Given the description of an element on the screen output the (x, y) to click on. 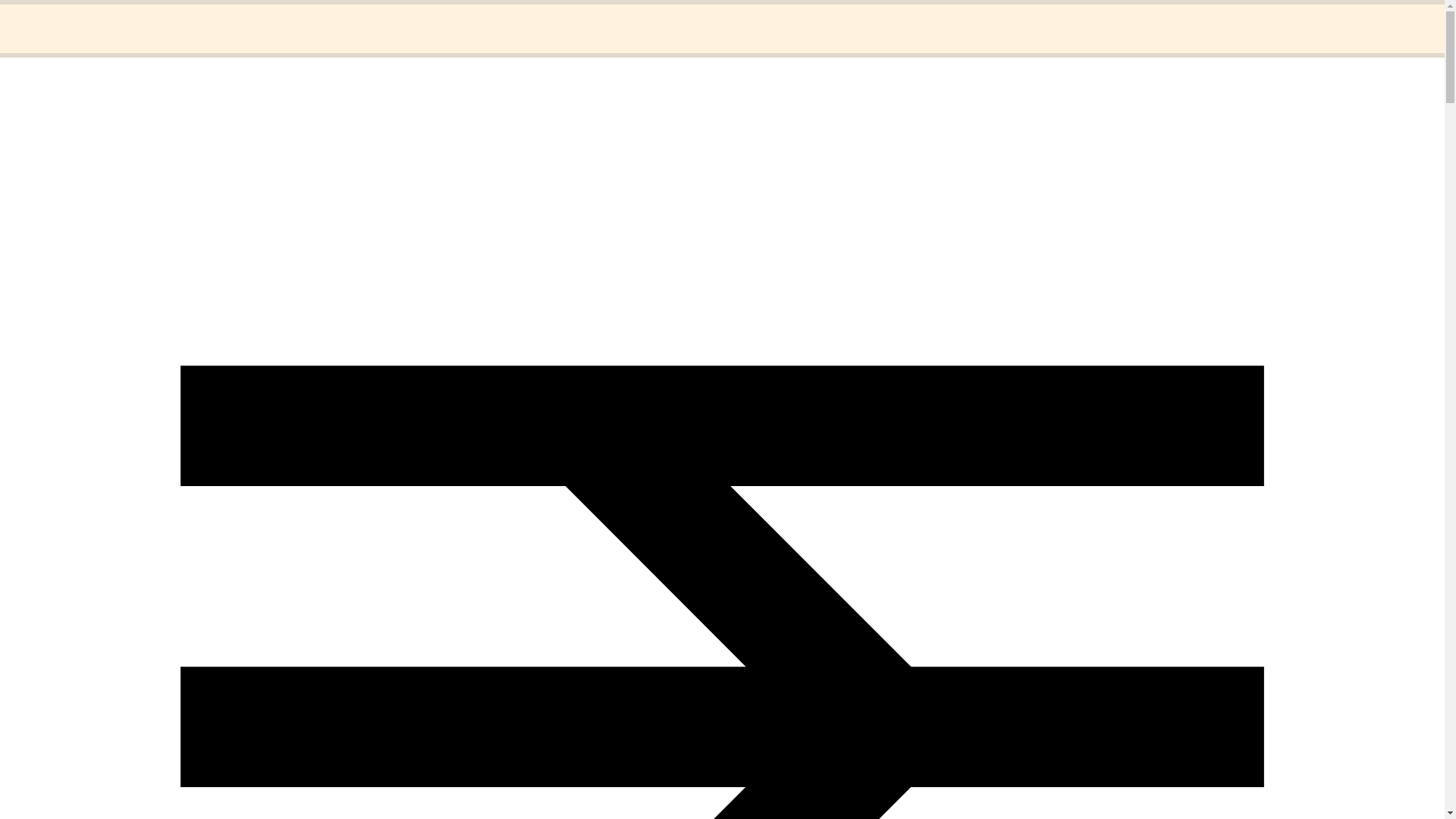
Home (50, 18)
